Given the description of an element on the screen output the (x, y) to click on. 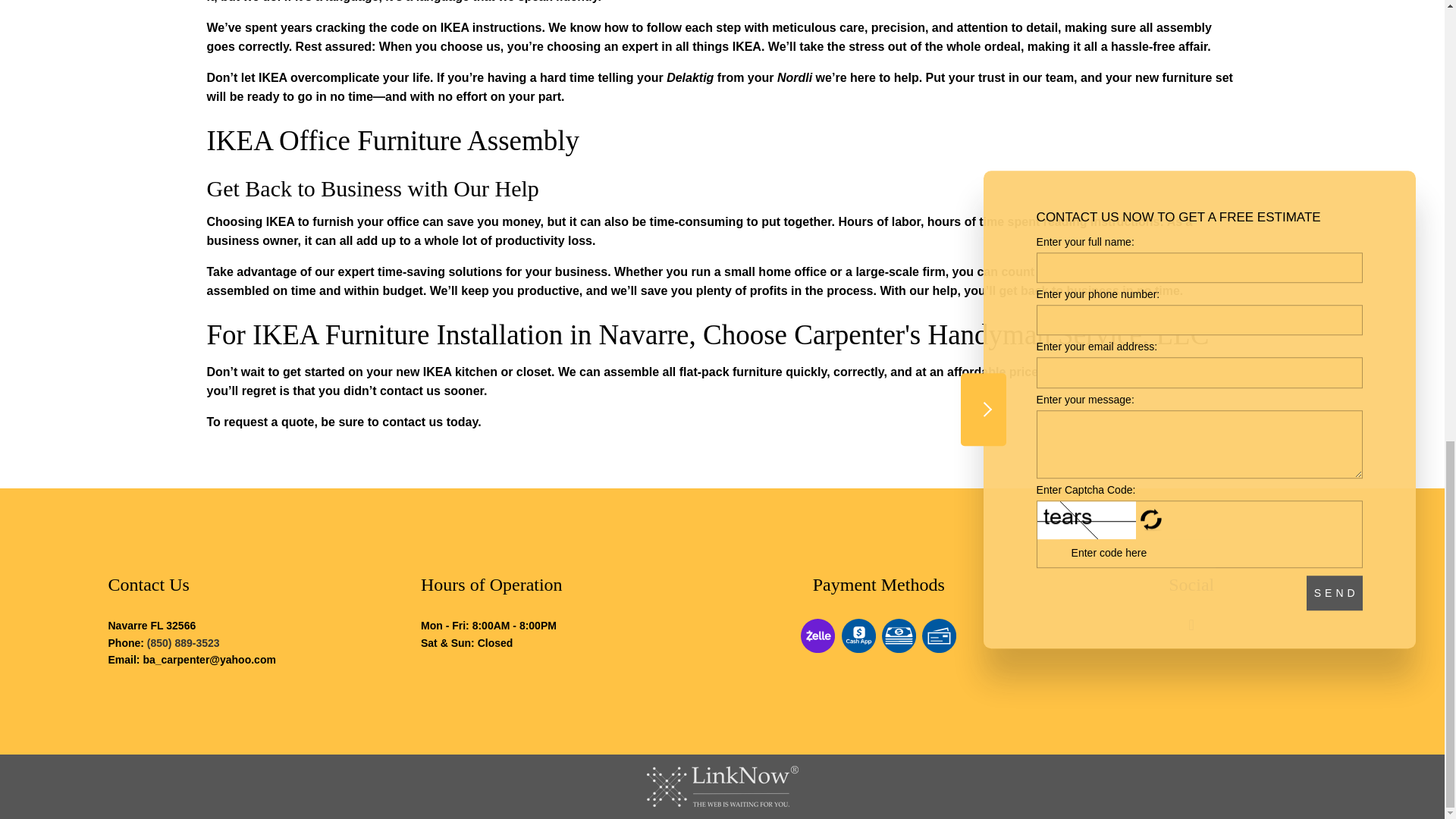
Google Maps (1191, 625)
